Given the description of an element on the screen output the (x, y) to click on. 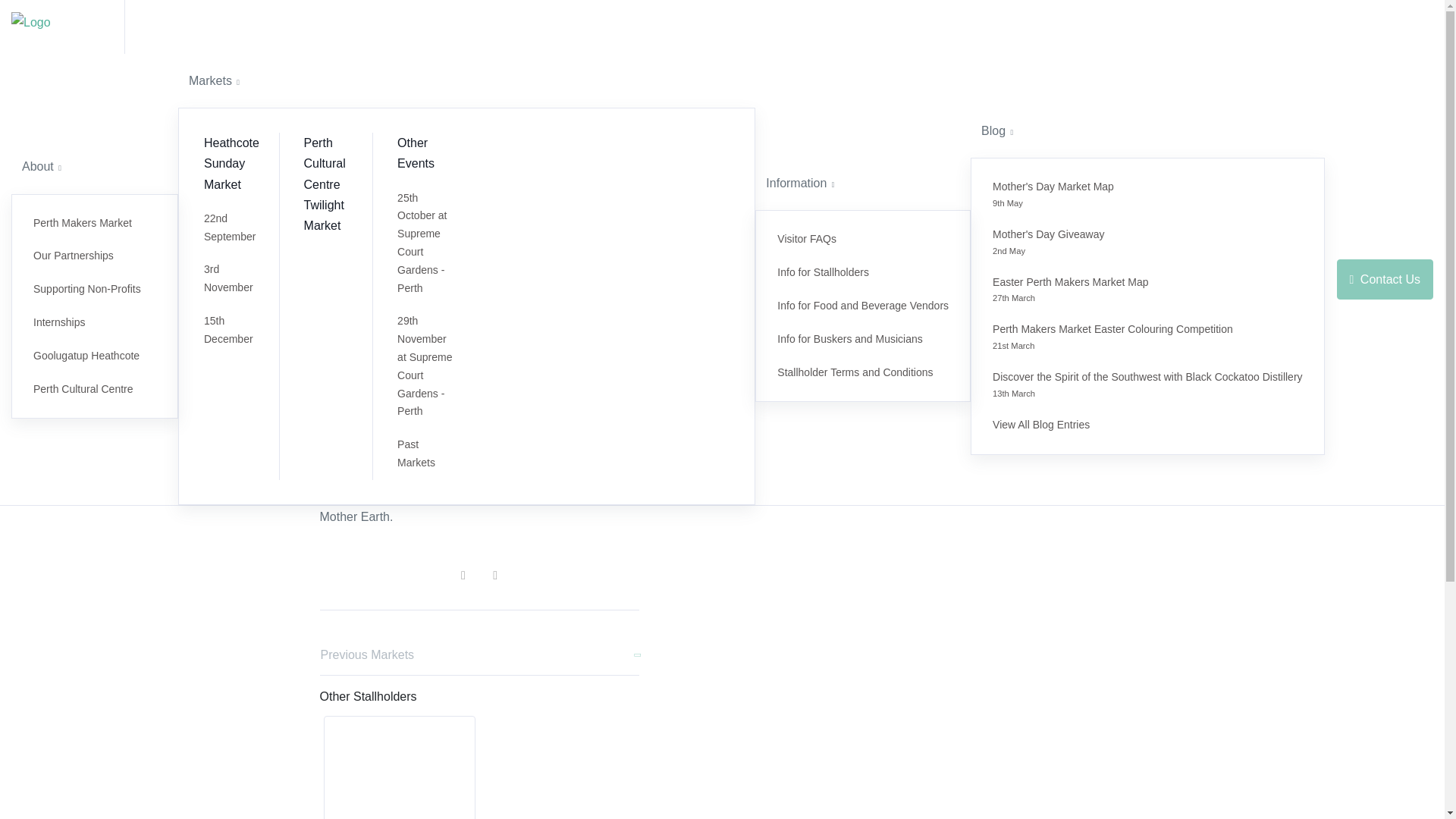
Supporting Non-Profits (94, 289)
Past Markets (426, 453)
Goolugatup Heathcote (1147, 336)
15th December (94, 356)
View All Blog Entries (235, 330)
Our Partnerships (1147, 425)
Perth Cultural Centre (94, 255)
